Given the description of an element on the screen output the (x, y) to click on. 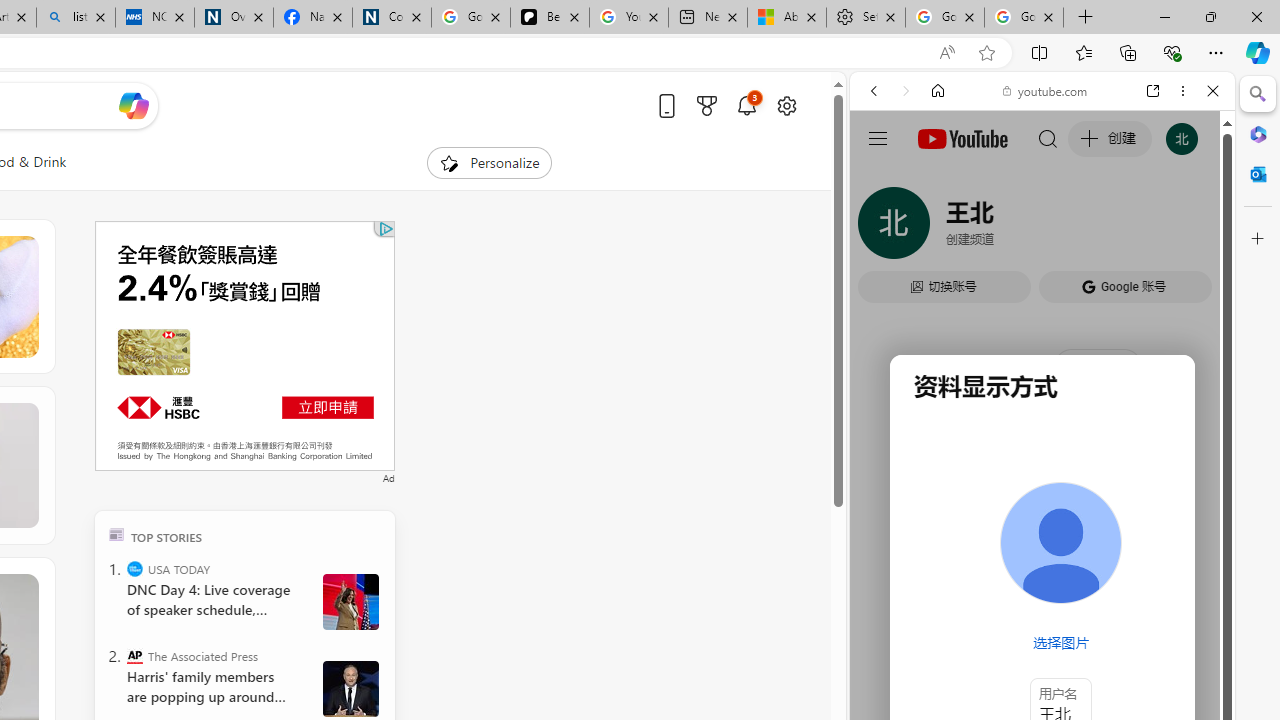
Music (1042, 543)
Open Copilot (132, 105)
